Given the description of an element on the screen output the (x, y) to click on. 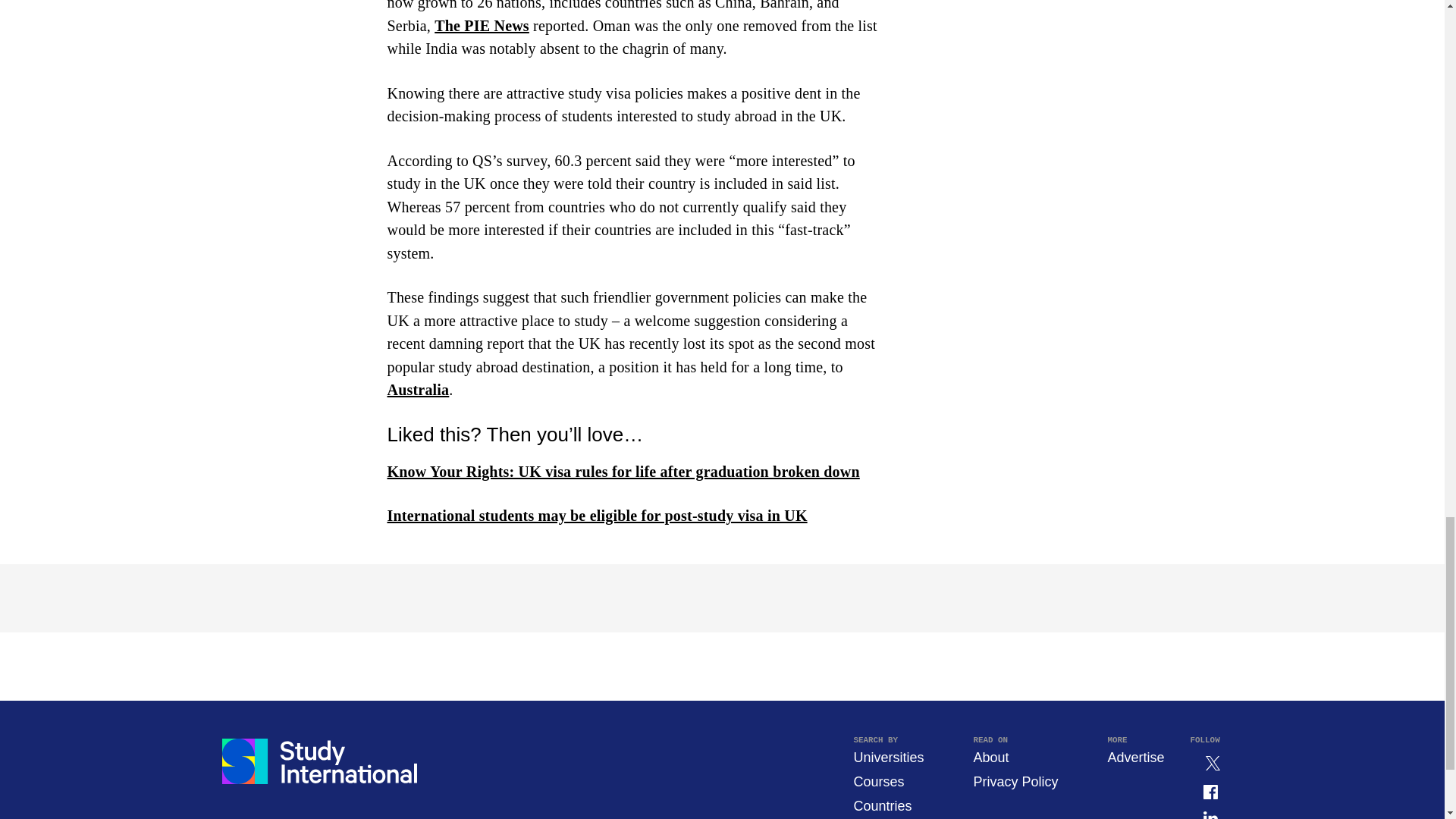
3rd party ad content (1078, 67)
Australia (417, 389)
Universities (888, 757)
Courses (878, 781)
The PIE News (481, 25)
Countries (882, 806)
